Given the description of an element on the screen output the (x, y) to click on. 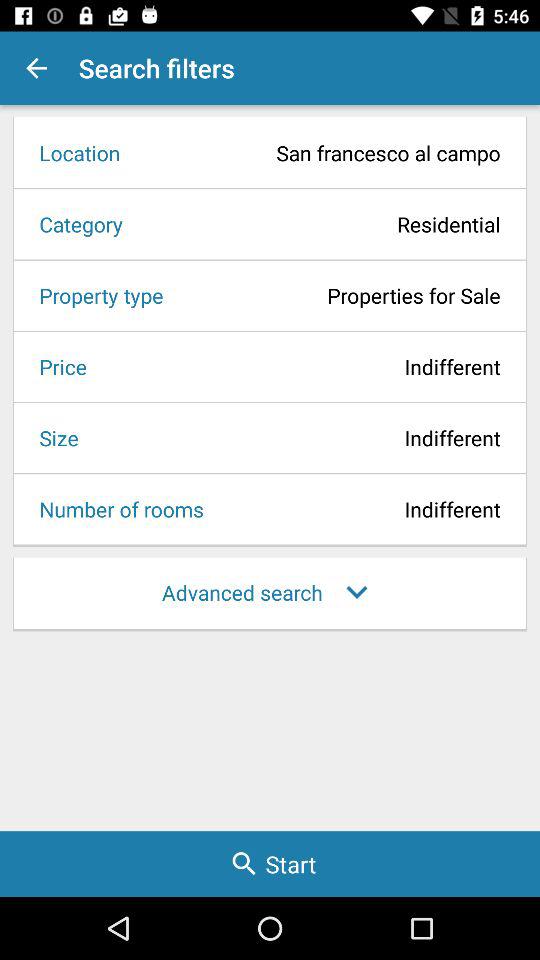
tap icon next to the indifferent item (56, 366)
